Given the description of an element on the screen output the (x, y) to click on. 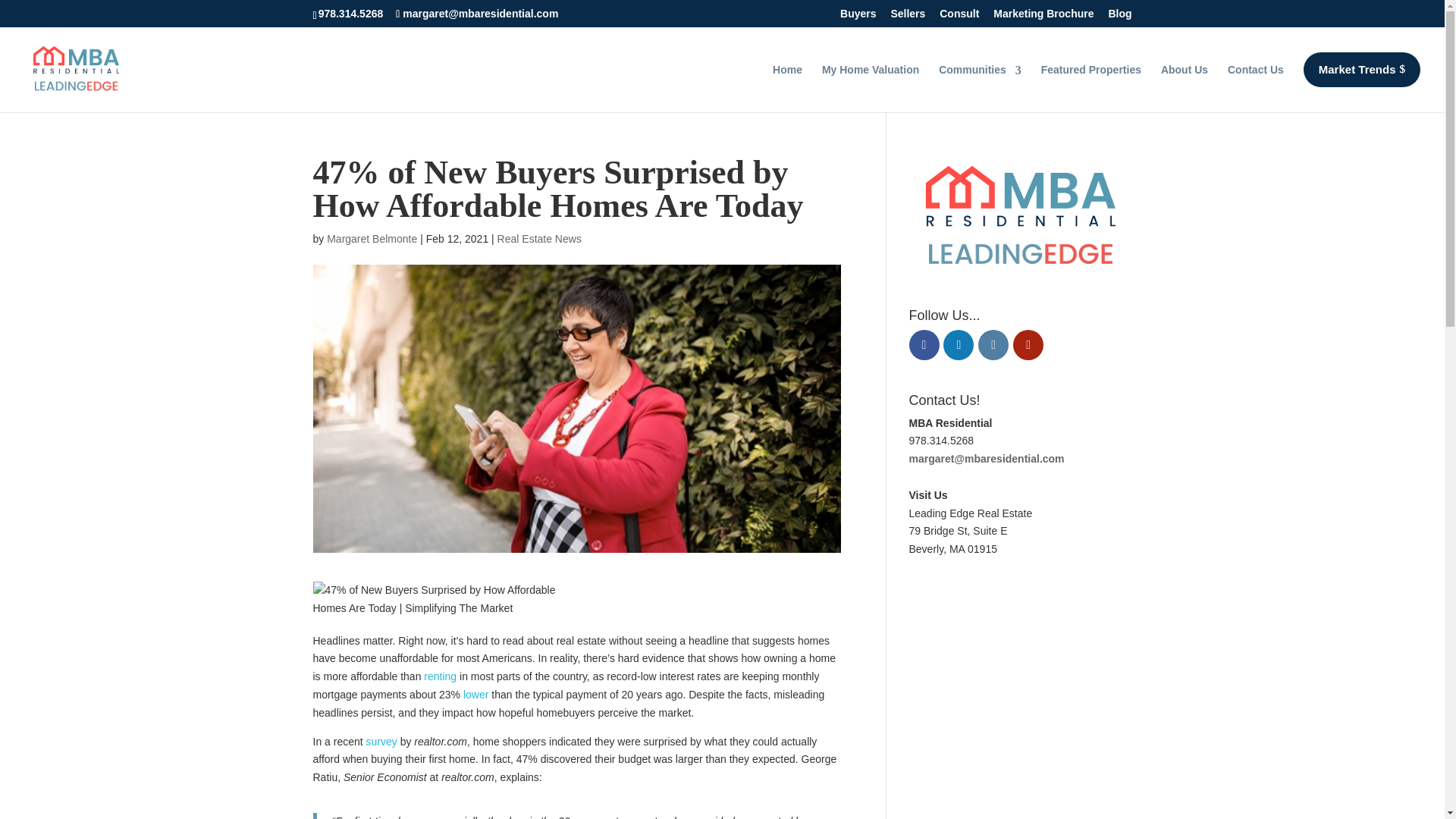
Communities (980, 86)
Consult (958, 16)
Market Trends (1362, 69)
Blog (1119, 16)
Marketing Brochure (1042, 16)
lower (475, 694)
renting (440, 676)
My Home Valuation (870, 86)
Posts by Margaret Belmonte (371, 238)
Sellers (906, 16)
survey (381, 741)
Buyers (858, 16)
Contact Us (1255, 86)
Margaret Belmonte (371, 238)
Featured Properties (1091, 86)
